Given the description of an element on the screen output the (x, y) to click on. 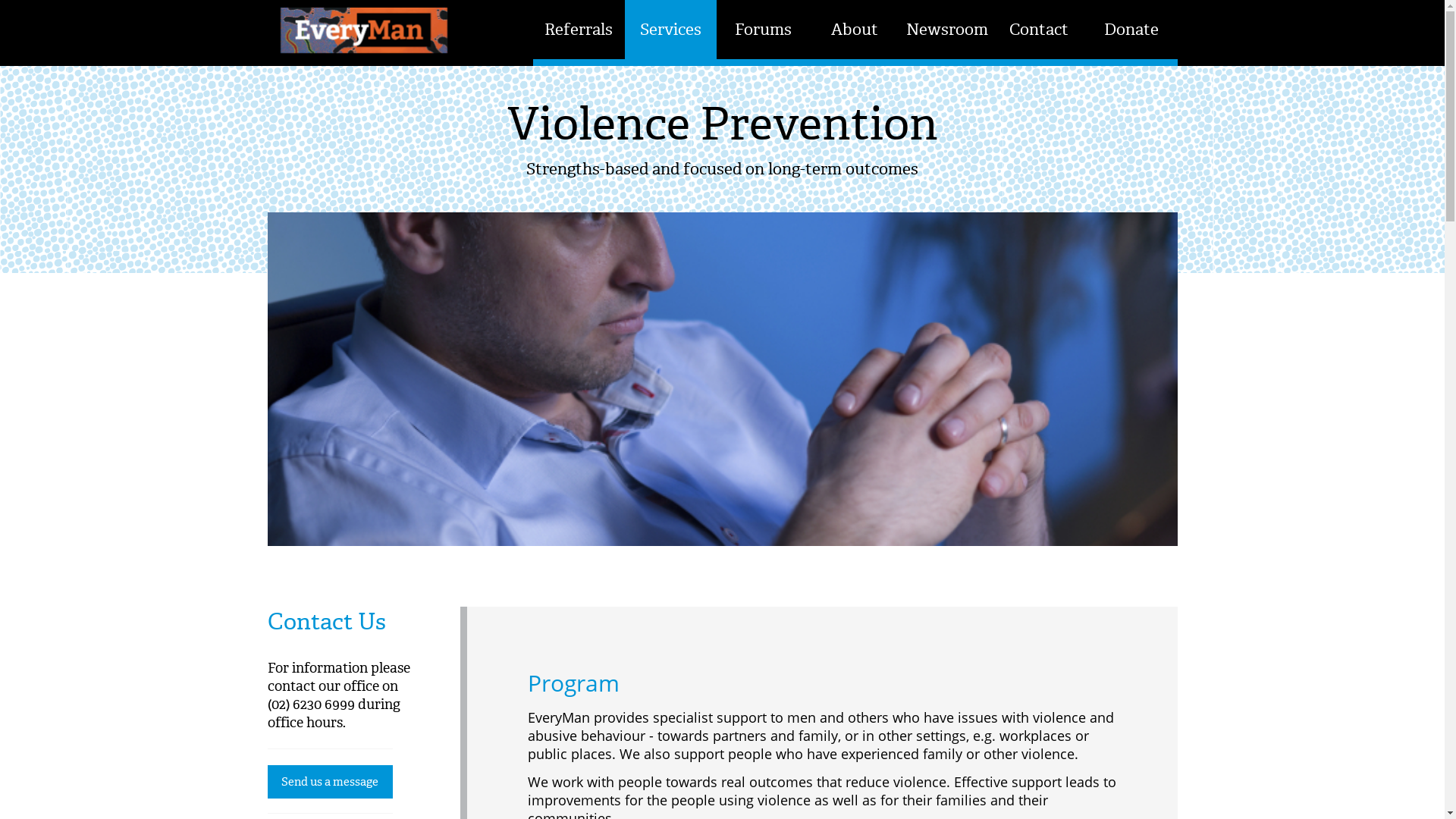
Newsroom Element type: text (946, 29)
Contact Element type: text (1039, 29)
Referrals Element type: text (578, 29)
Donate Element type: text (1130, 29)
Send us a message Element type: text (329, 781)
About Element type: text (854, 29)
Forums Element type: text (762, 29)
Services Element type: text (670, 29)
